Given the description of an element on the screen output the (x, y) to click on. 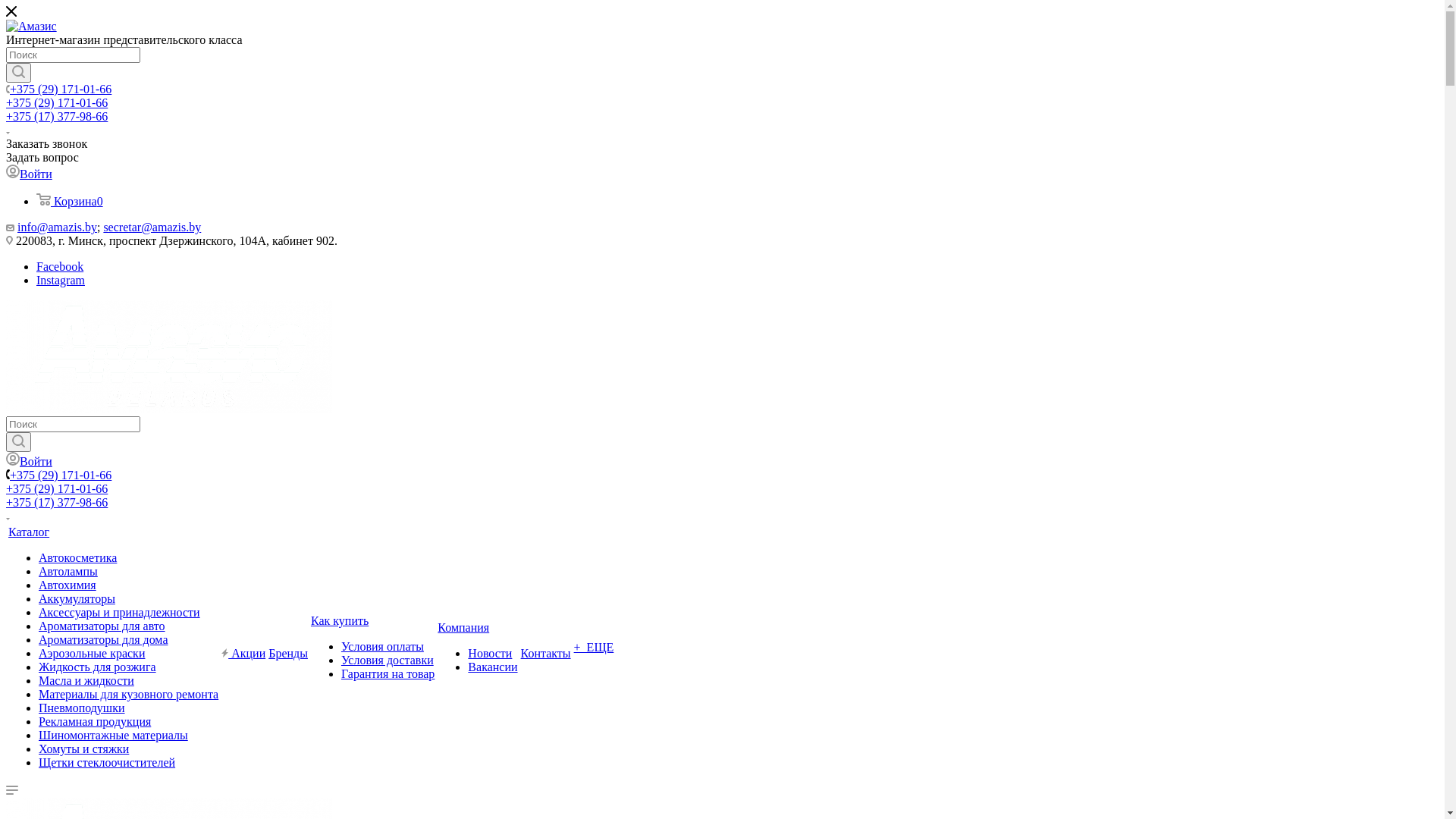
+375 (29) 171-01-66 Element type: text (60, 88)
+375 (17) 377-98-66 Element type: text (56, 501)
Instagram Element type: text (60, 279)
info@amazis.by Element type: text (57, 226)
secretar@amazis.by Element type: text (151, 226)
+375 (29) 171-01-66 Element type: text (60, 474)
+375 (29) 171-01-66 Element type: text (56, 102)
+375 (17) 377-98-66 Element type: text (56, 115)
+375 (29) 171-01-66 Element type: text (56, 488)
Facebook Element type: text (59, 266)
